Given the description of an element on the screen output the (x, y) to click on. 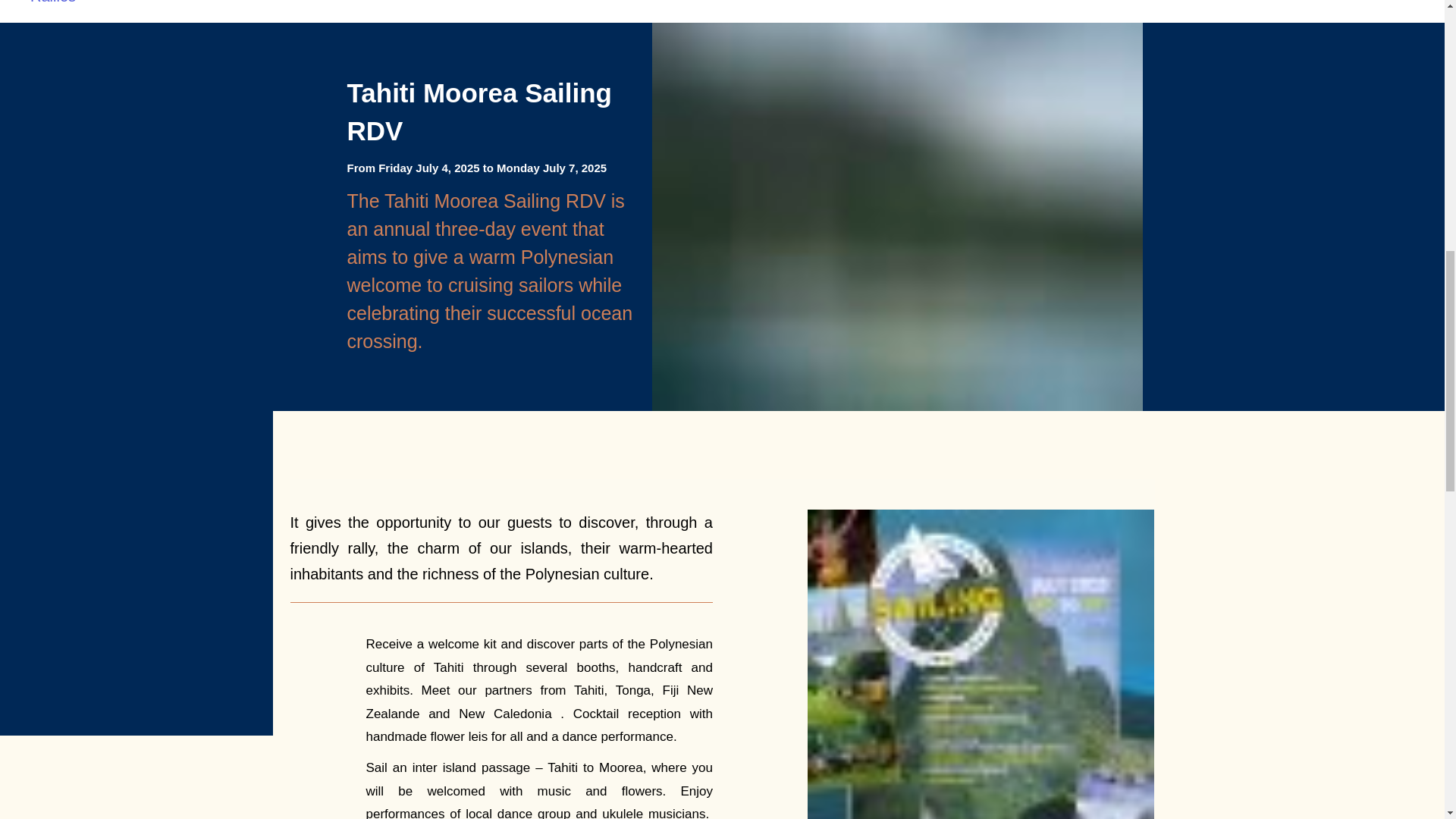
Rallies (52, 2)
